Given the description of an element on the screen output the (x, y) to click on. 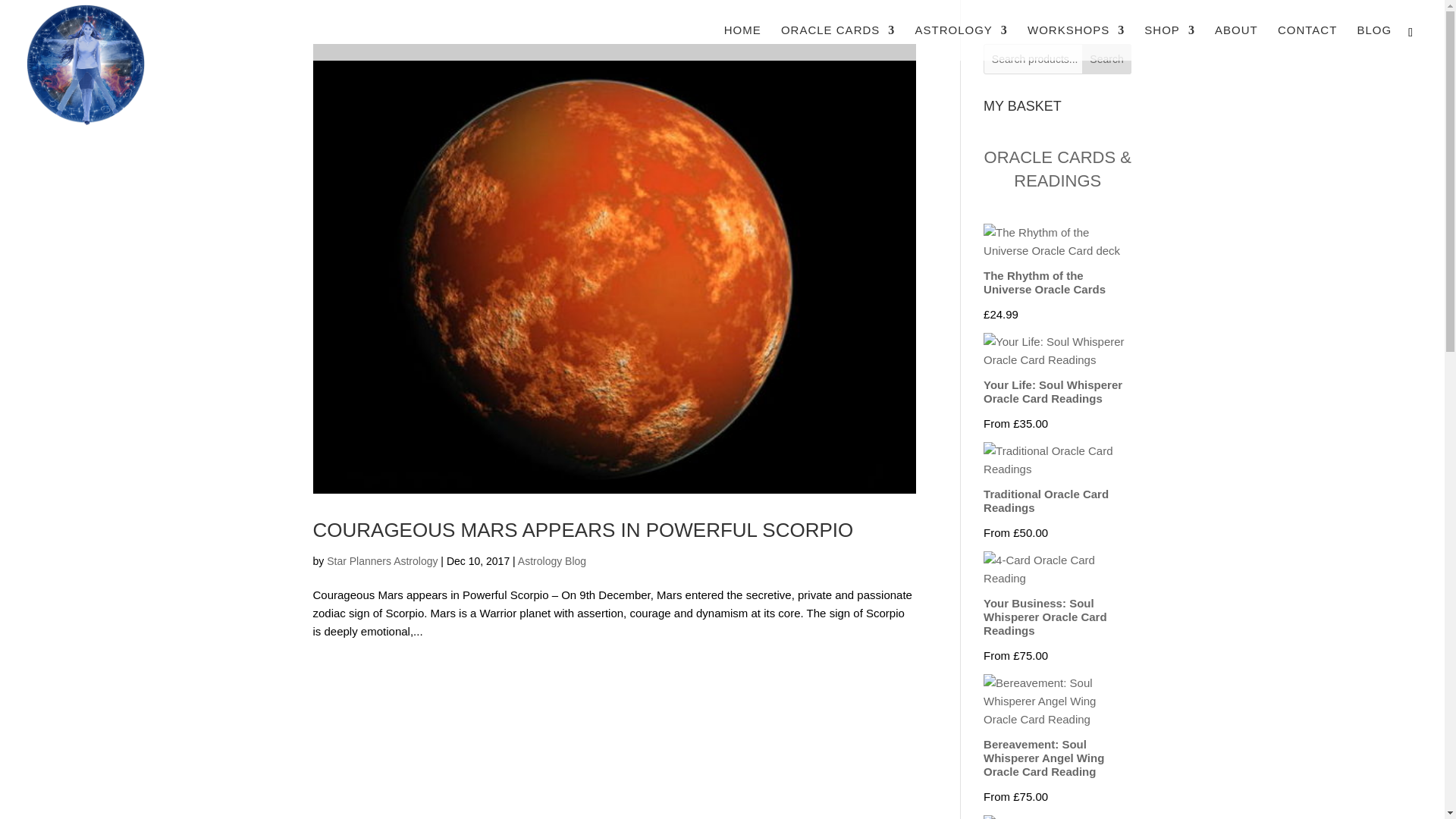
Posts by Star Planners Astrology (382, 561)
HOME (742, 42)
ORACLE CARDS (837, 42)
ASTROLOGY (960, 42)
